Given the description of an element on the screen output the (x, y) to click on. 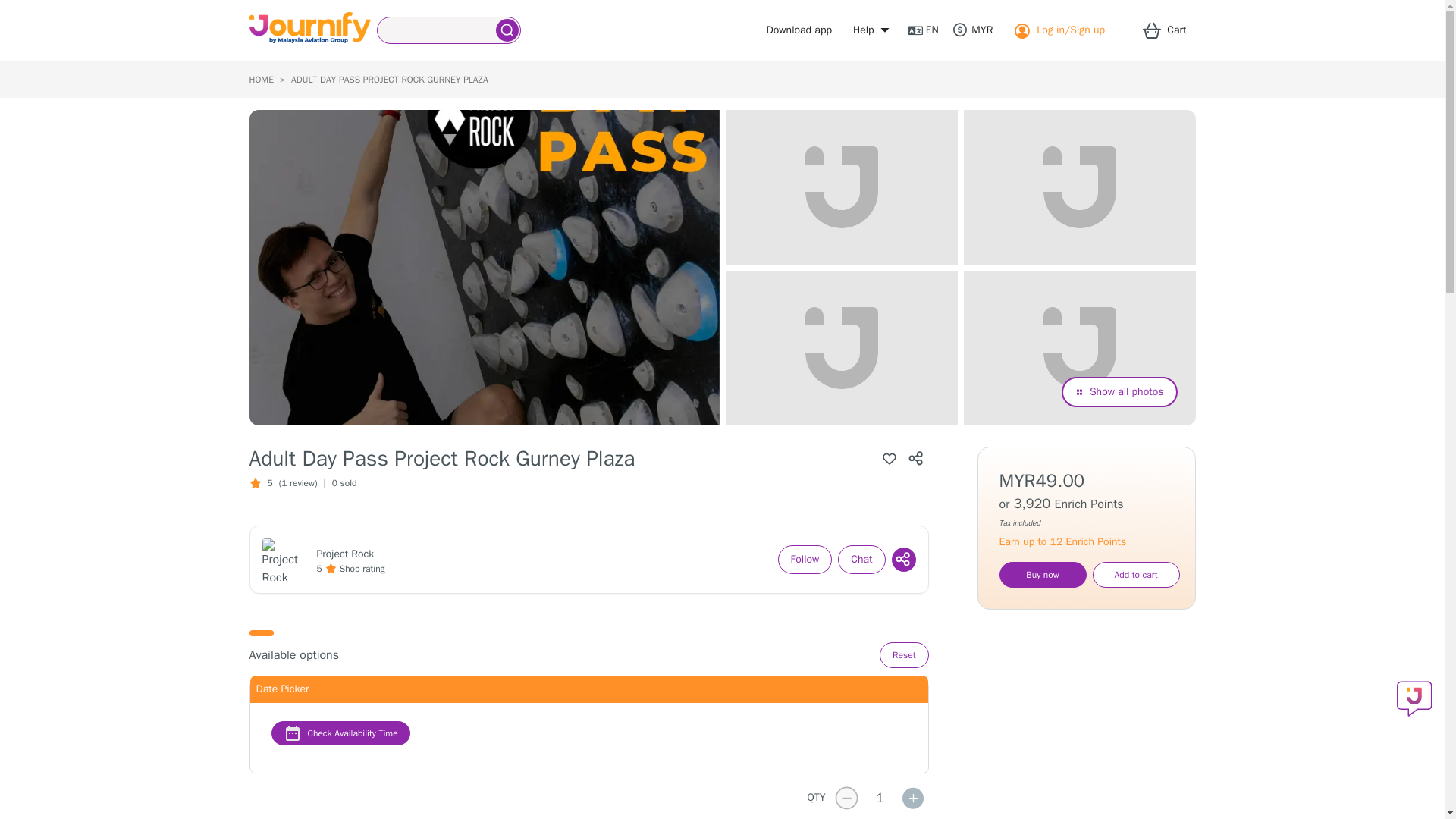
ADULT DAY PASS PROJECT ROCK GURNEY PLAZA (389, 79)
EN (923, 29)
Project Rock (345, 553)
Show all photos (1119, 391)
Initiate search (507, 29)
MYR (972, 29)
Cart (1168, 30)
HOME (260, 79)
Download app (799, 29)
Reset (903, 655)
